Given the description of an element on the screen output the (x, y) to click on. 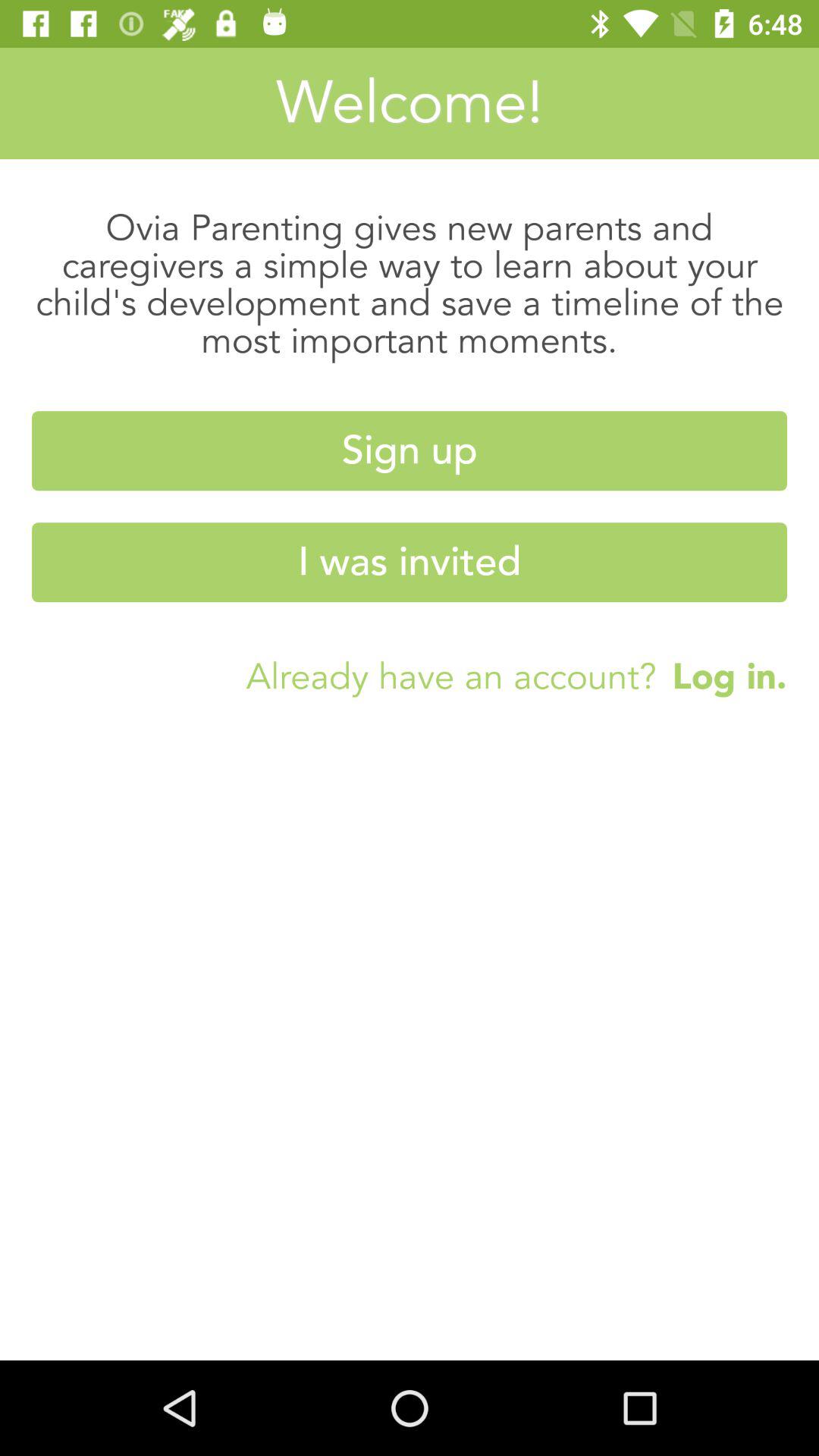
click the icon above the log in. item (409, 562)
